Given the description of an element on the screen output the (x, y) to click on. 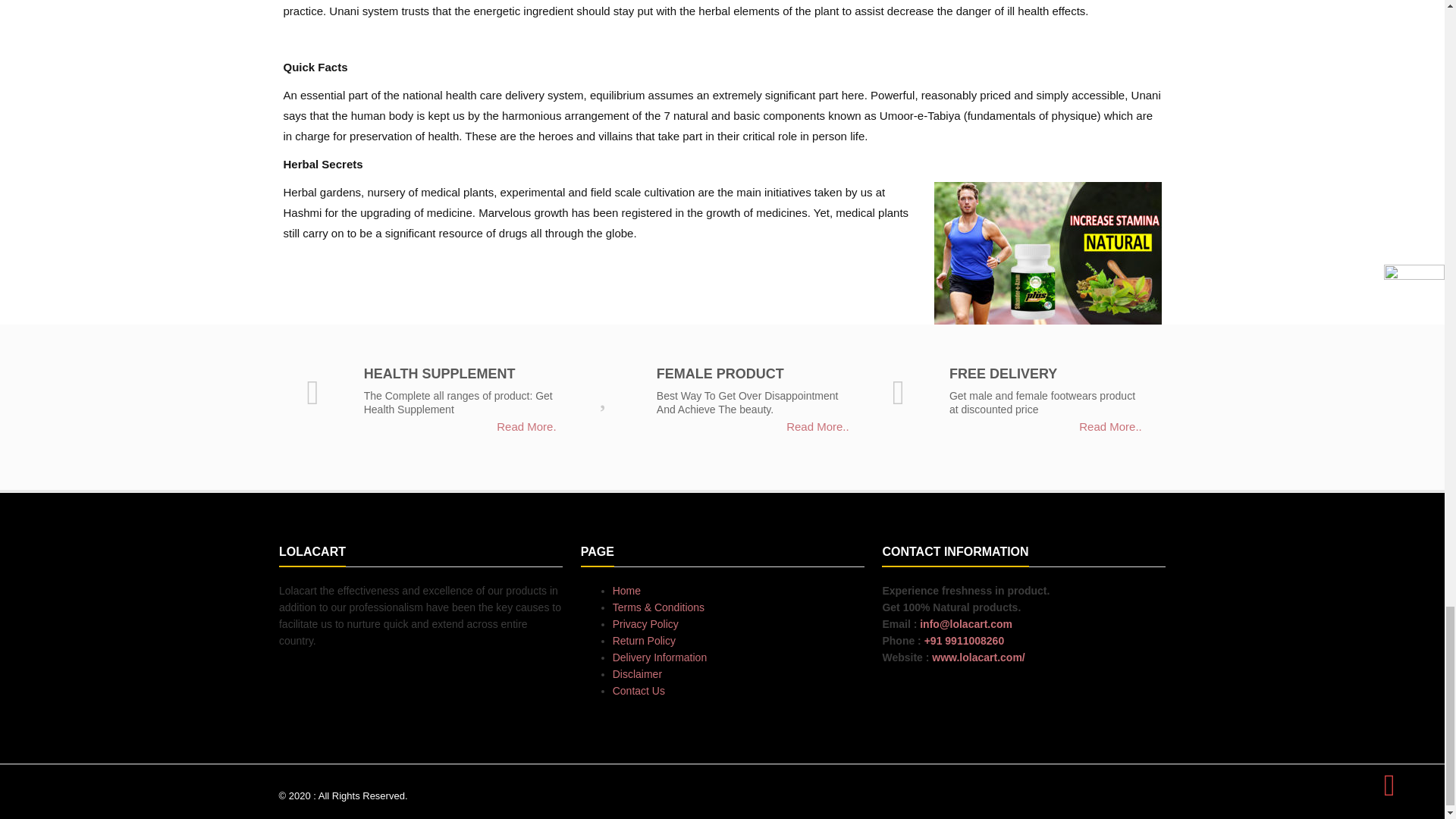
Home (626, 590)
Disclaimer (637, 674)
Privacy Policy (645, 623)
Return Policy (643, 640)
Read More. (526, 426)
Delivery Information (659, 657)
Read More.. (817, 426)
Read More.. (1109, 426)
Contact Us (638, 690)
